Given the description of an element on the screen output the (x, y) to click on. 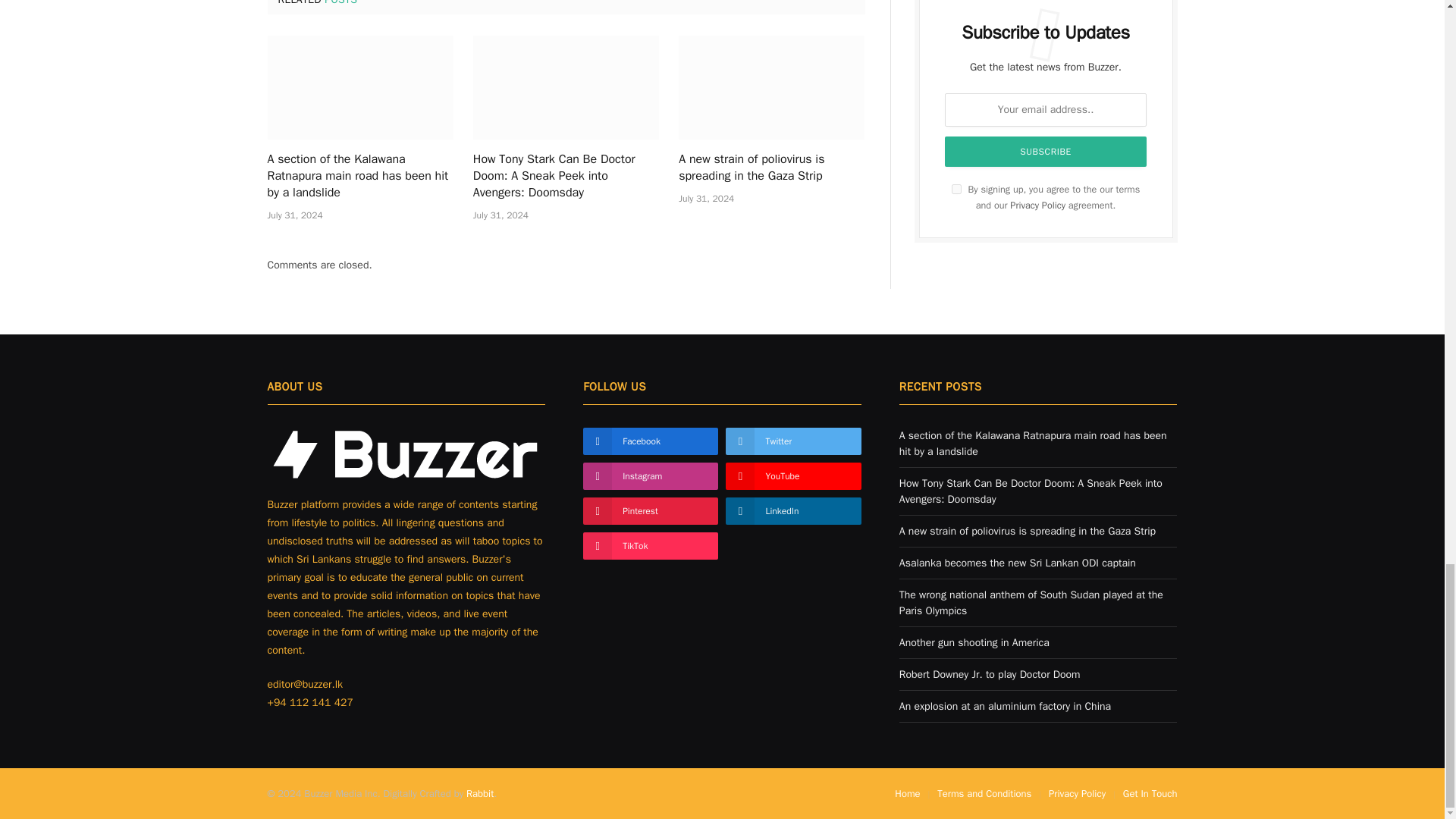
Subscribe (1045, 151)
on (956, 189)
